Given the description of an element on the screen output the (x, y) to click on. 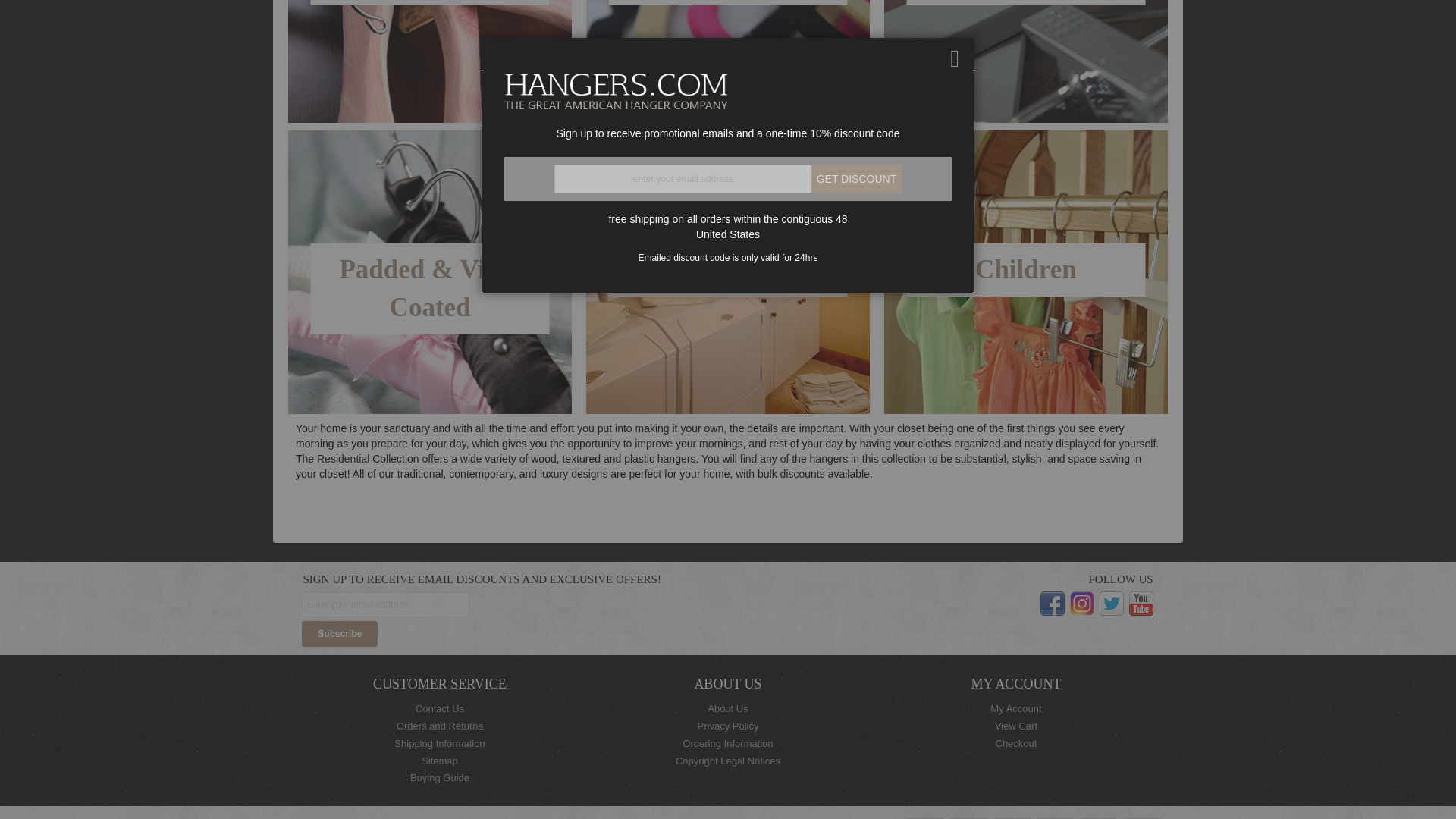
Residential Collections - Velvet (727, 61)
Residential Collections - Velvet (727, 2)
Residential Collections - Environmental (430, 61)
Residential Collections - Environmental (429, 2)
